Given the description of an element on the screen output the (x, y) to click on. 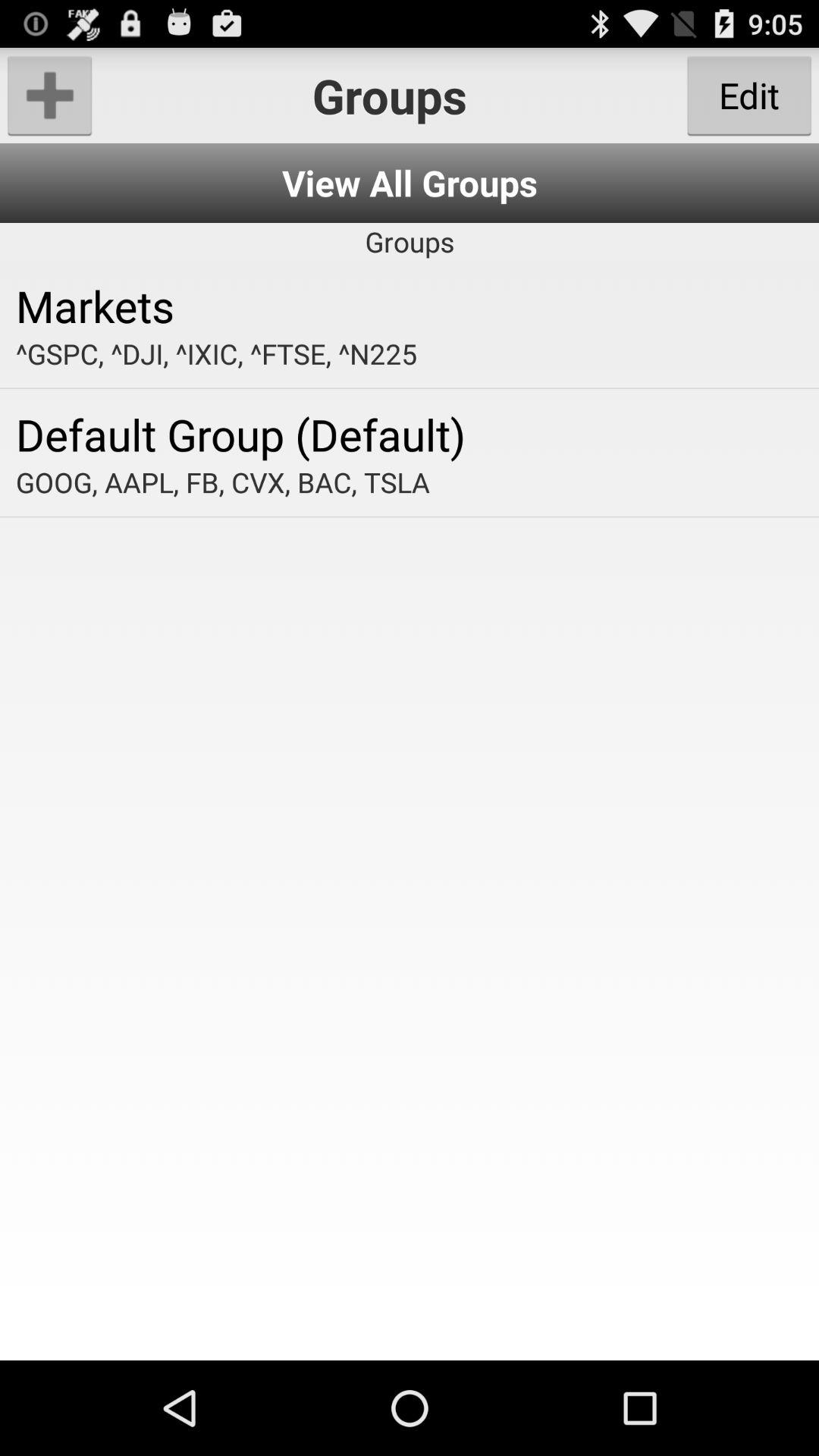
add group (49, 95)
